Given the description of an element on the screen output the (x, y) to click on. 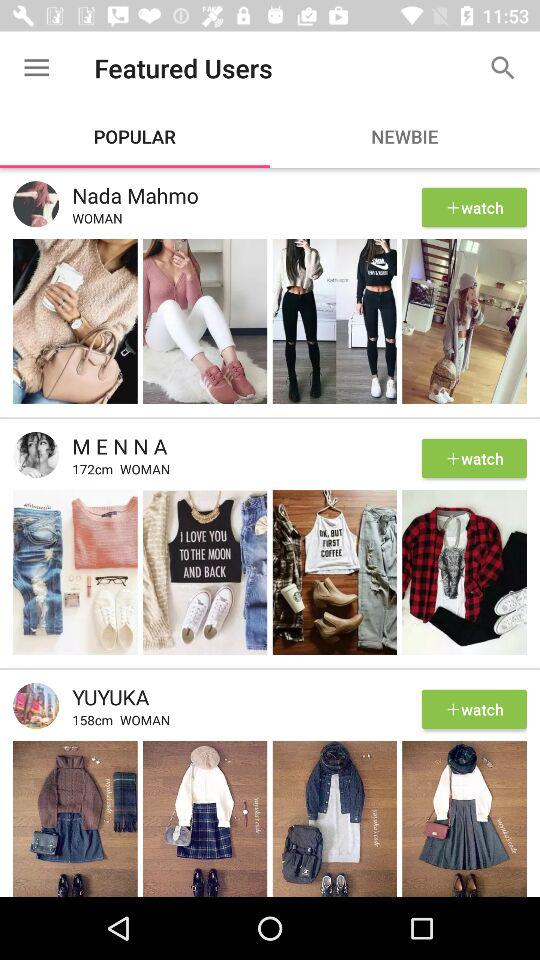
click the item next to featured users icon (36, 68)
